Given the description of an element on the screen output the (x, y) to click on. 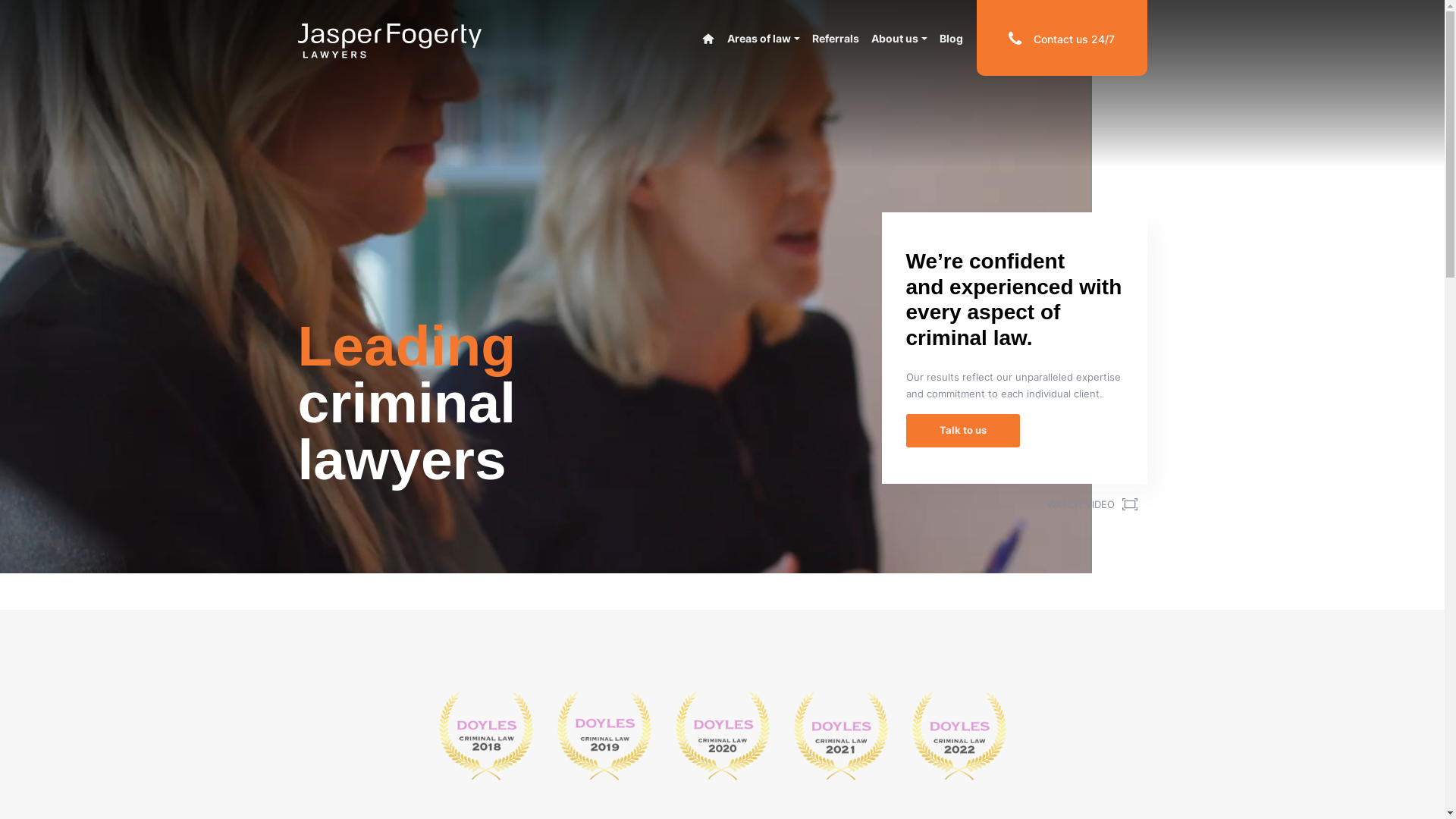
Referrals Element type: text (835, 37)
Talk to us Element type: text (962, 430)
Contact us 24/7 Element type: text (1061, 38)
Blog Element type: text (950, 37)
Areas of law Element type: text (763, 37)
About us Element type: text (899, 37)
